Given the description of an element on the screen output the (x, y) to click on. 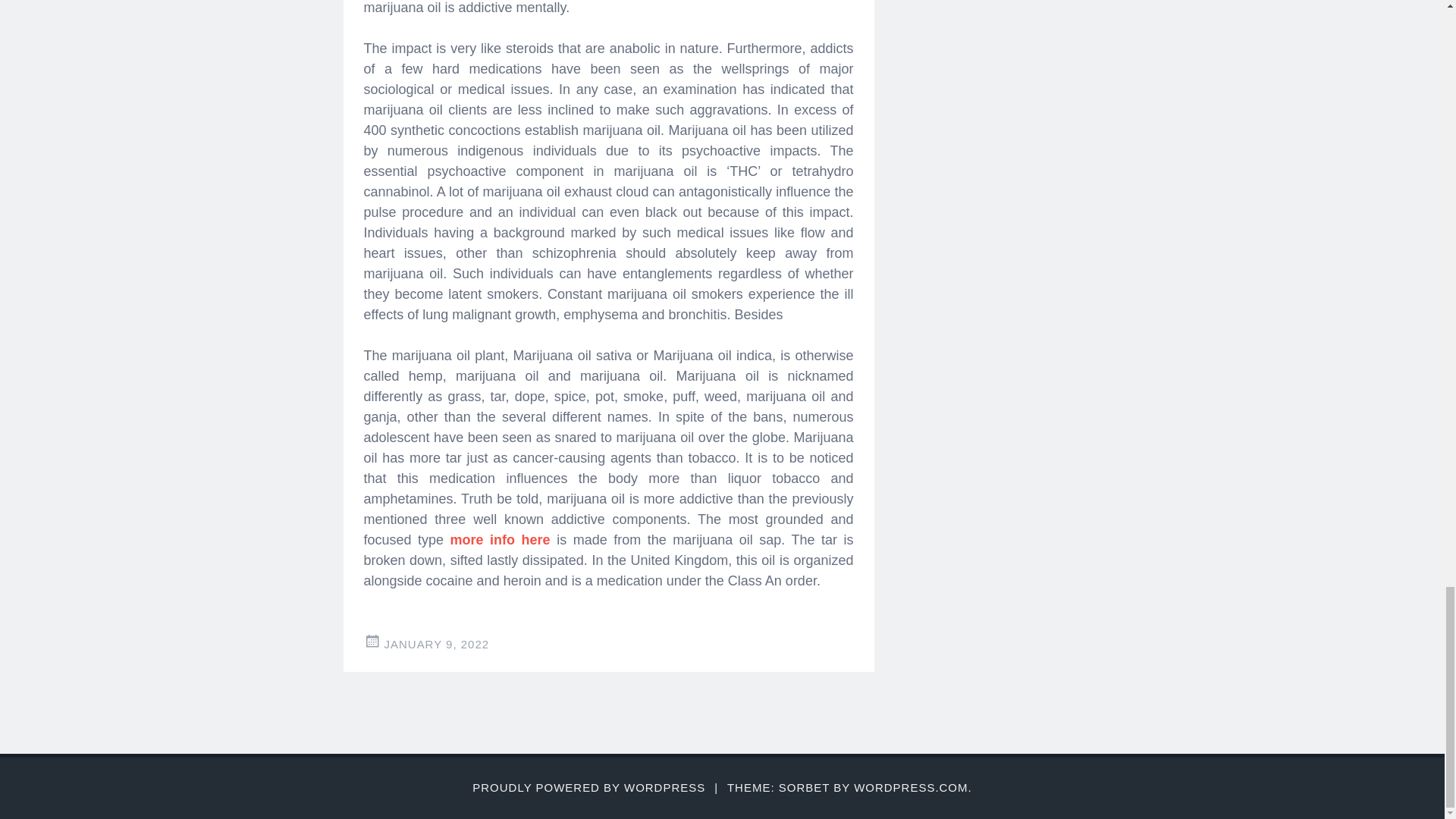
7:12 am (436, 644)
